Given the description of an element on the screen output the (x, y) to click on. 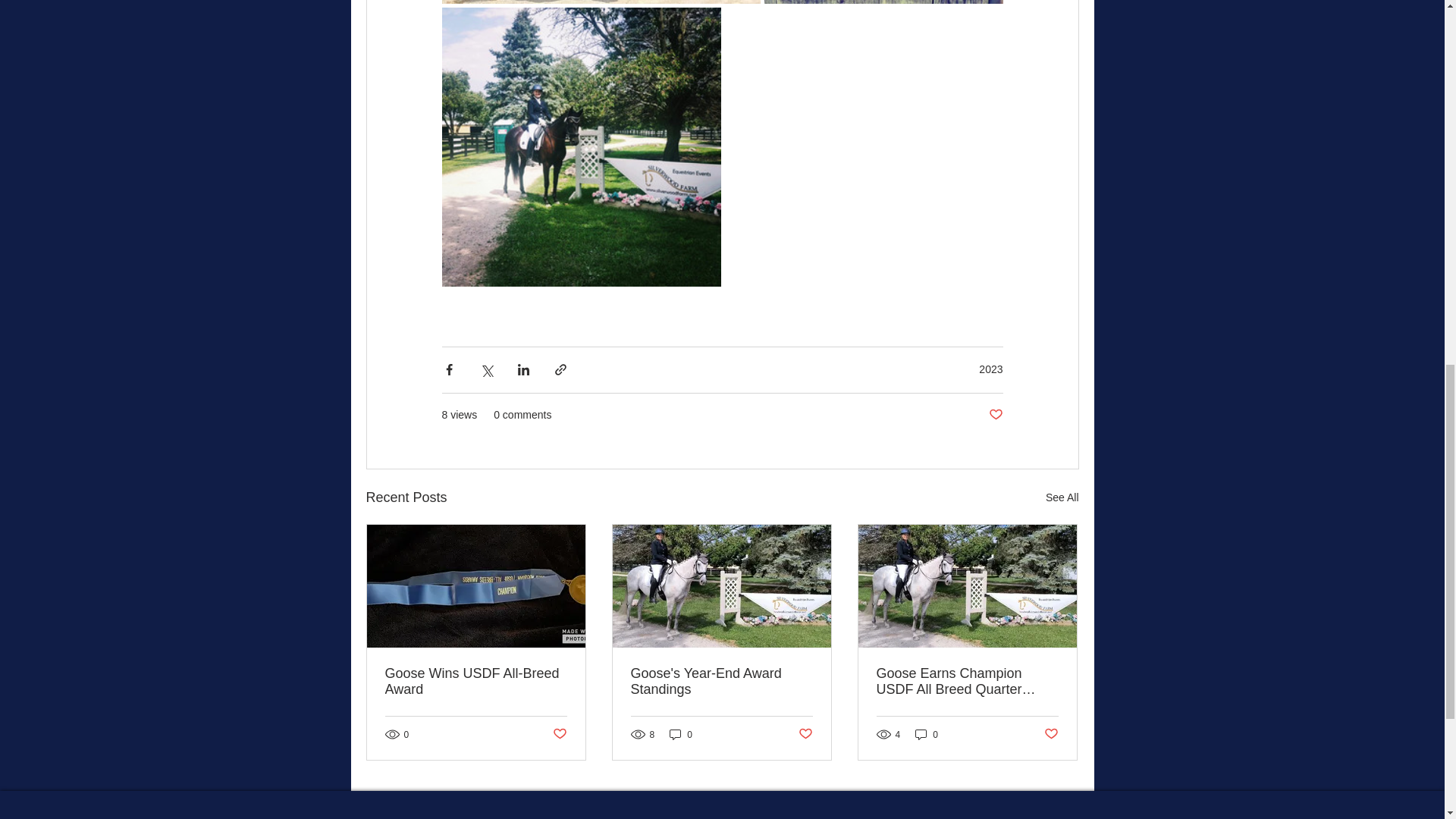
Post not marked as liked (995, 415)
2023 (990, 369)
Post not marked as liked (558, 734)
See All (1061, 497)
Goose Wins USDF All-Breed Award (476, 681)
